Given the description of an element on the screen output the (x, y) to click on. 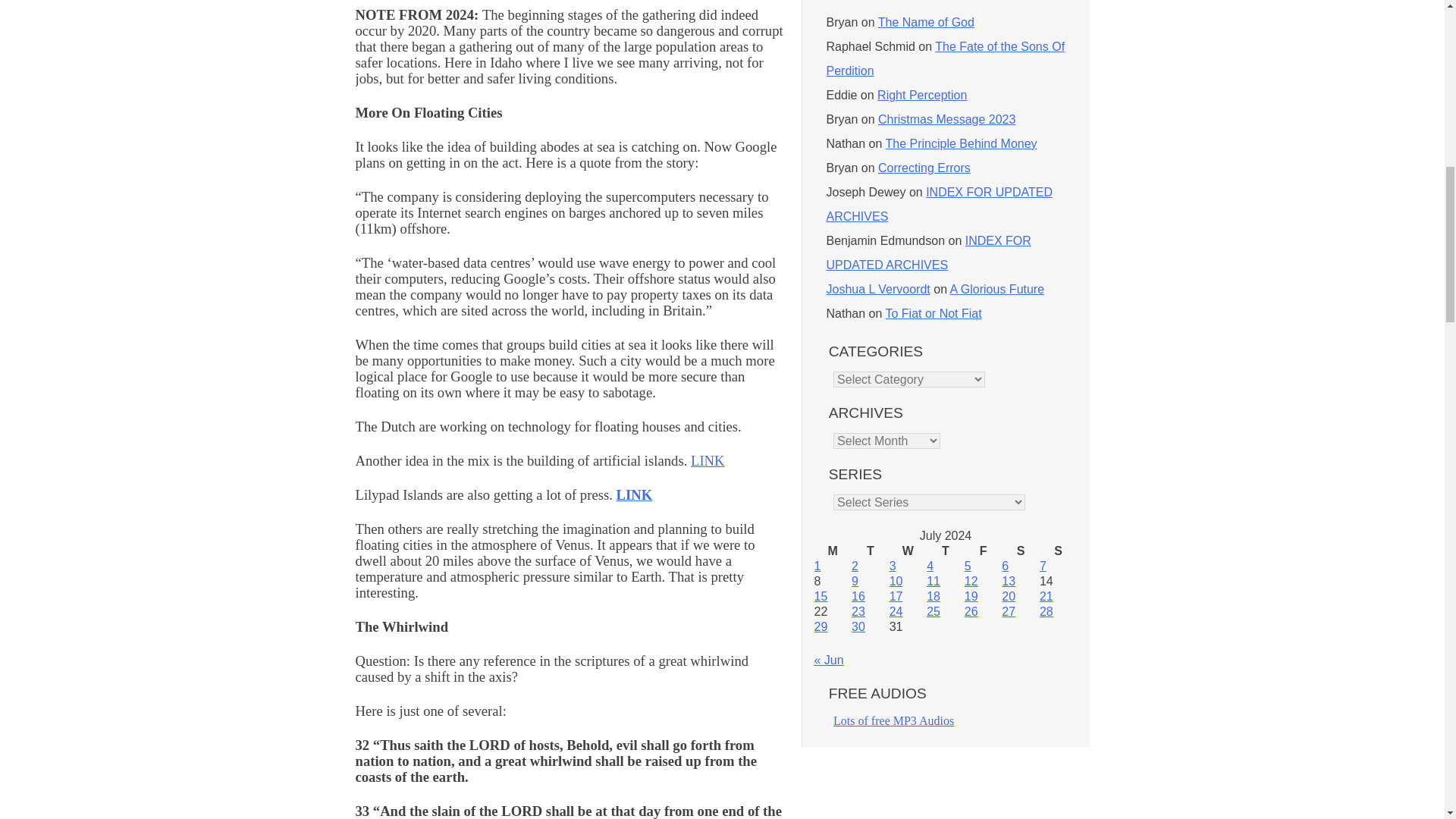
Thursday (944, 550)
LINK (633, 494)
Wednesday (908, 550)
Sunday (1058, 550)
Tuesday (870, 550)
LINK (707, 460)
Friday (983, 550)
Monday (832, 550)
Saturday (1020, 550)
